Given the description of an element on the screen output the (x, y) to click on. 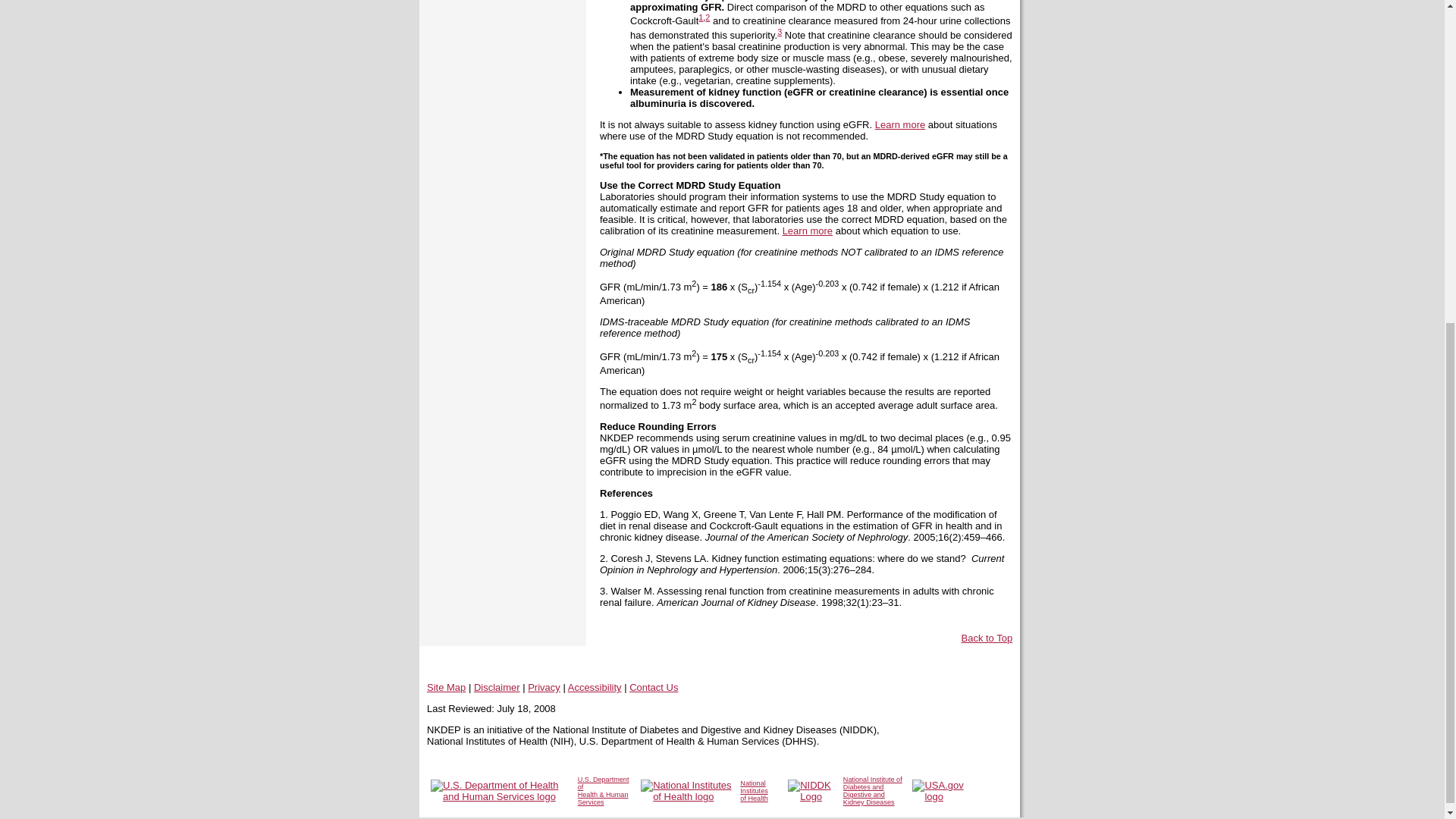
Back to Top (986, 643)
U.S. Department of Health and Human Services logo (500, 790)
Learn more (899, 124)
National Institutes of Health logo (686, 790)
Learn more (807, 230)
Site Map (445, 686)
